Given the description of an element on the screen output the (x, y) to click on. 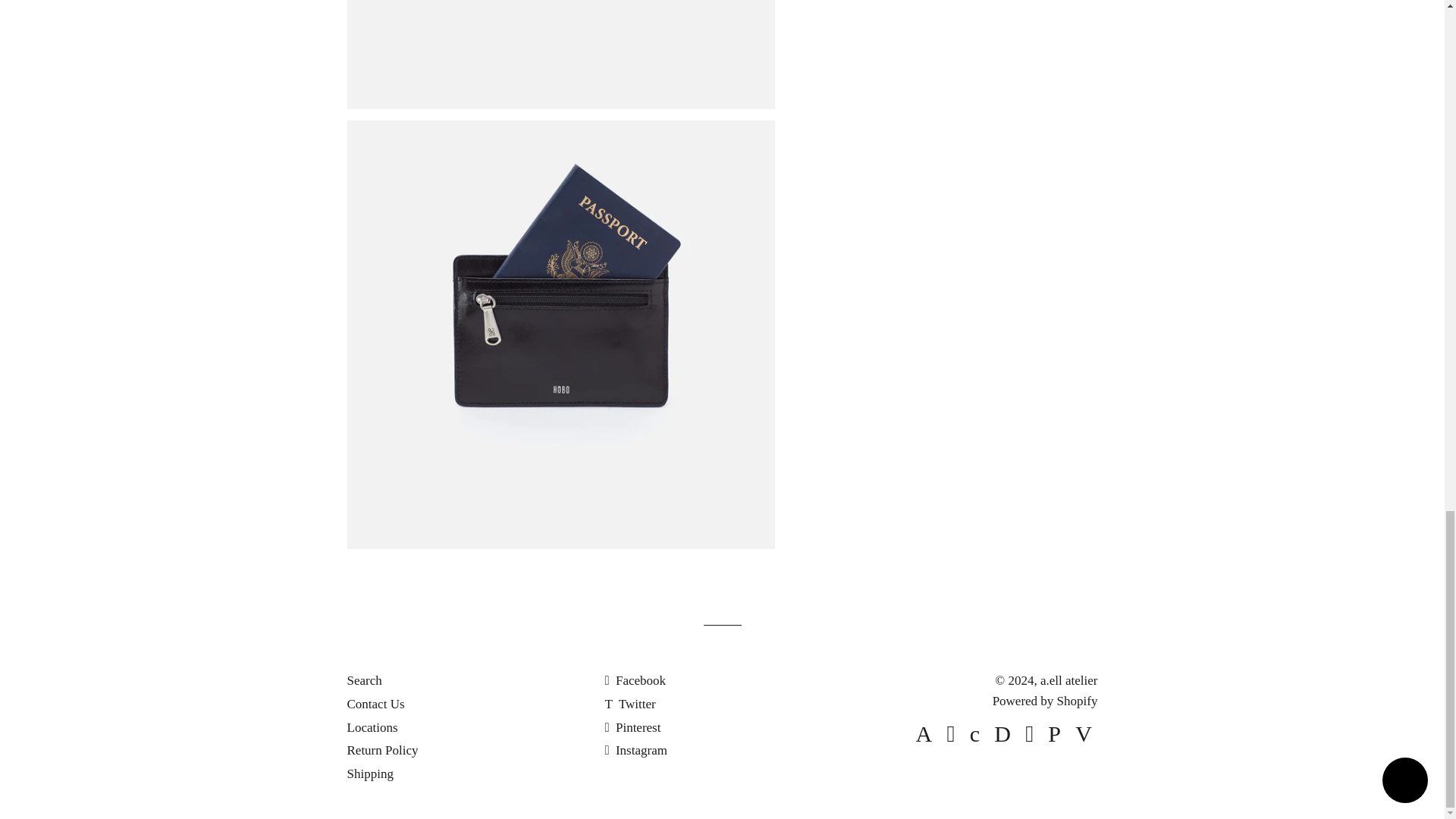
Contact Us (375, 703)
a.ell atelier on Facebook (634, 680)
a.ell atelier on Pinterest (632, 727)
a.ell atelier on Twitter (629, 703)
a.ell atelier on Instagram (635, 749)
Search (364, 680)
